Given the description of an element on the screen output the (x, y) to click on. 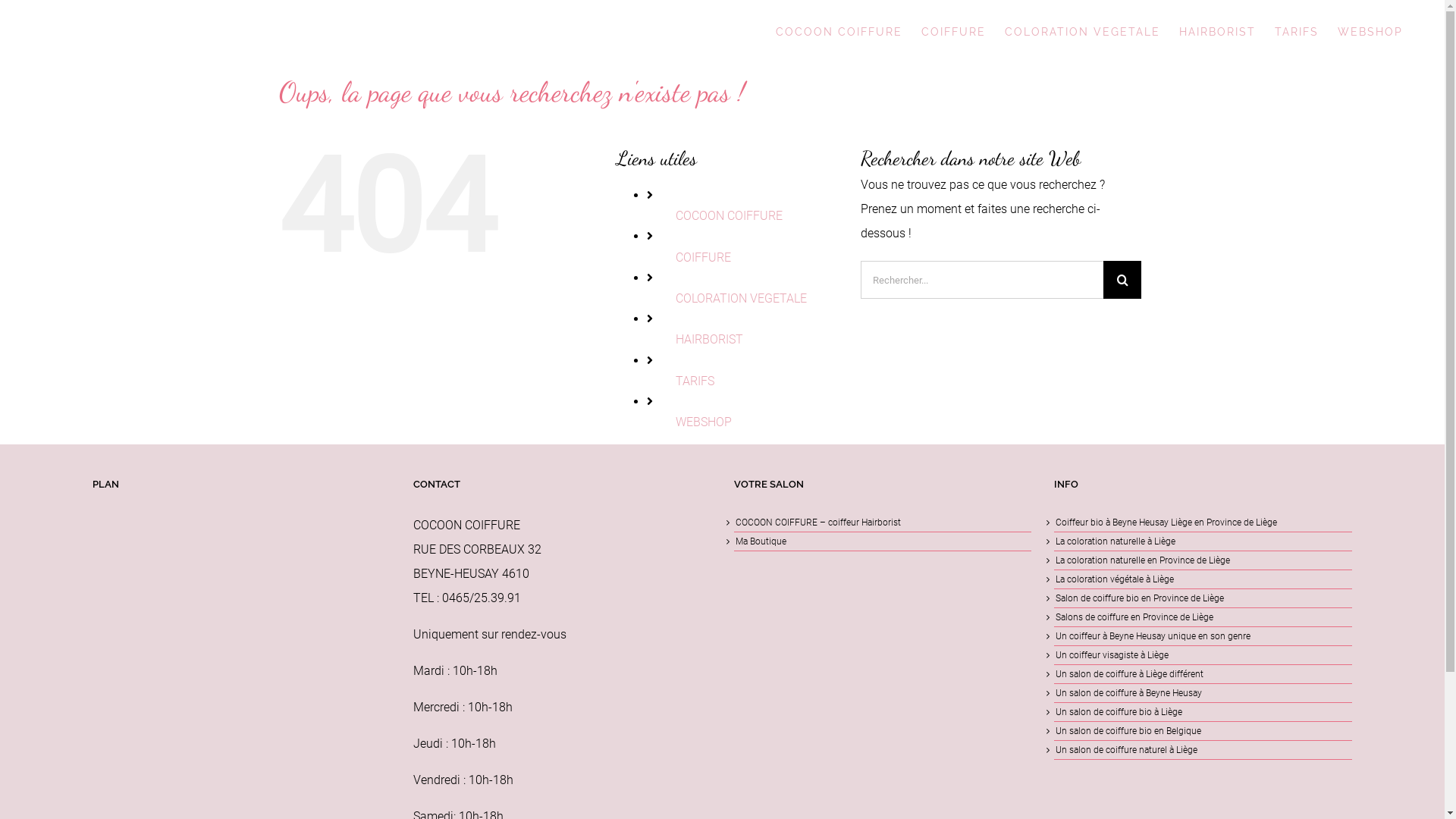
TARIFS Element type: text (694, 380)
COIFFURE Element type: text (703, 257)
Ma Boutique Element type: text (882, 541)
COLORATION VEGETALE Element type: text (740, 298)
COCOON COIFFURE Element type: text (728, 215)
COLORATION VEGETALE Element type: text (1082, 31)
WEBSHOP Element type: text (703, 421)
Un salon de coiffure bio en Belgique Element type: text (1202, 730)
TARIFS Element type: text (1296, 31)
COCOON COIFFURE Element type: text (838, 31)
COIFFURE Element type: text (953, 31)
HAIRBORIST Element type: text (1217, 31)
WEBSHOP Element type: text (1369, 31)
HAIRBORIST Element type: text (709, 339)
